Given the description of an element on the screen output the (x, y) to click on. 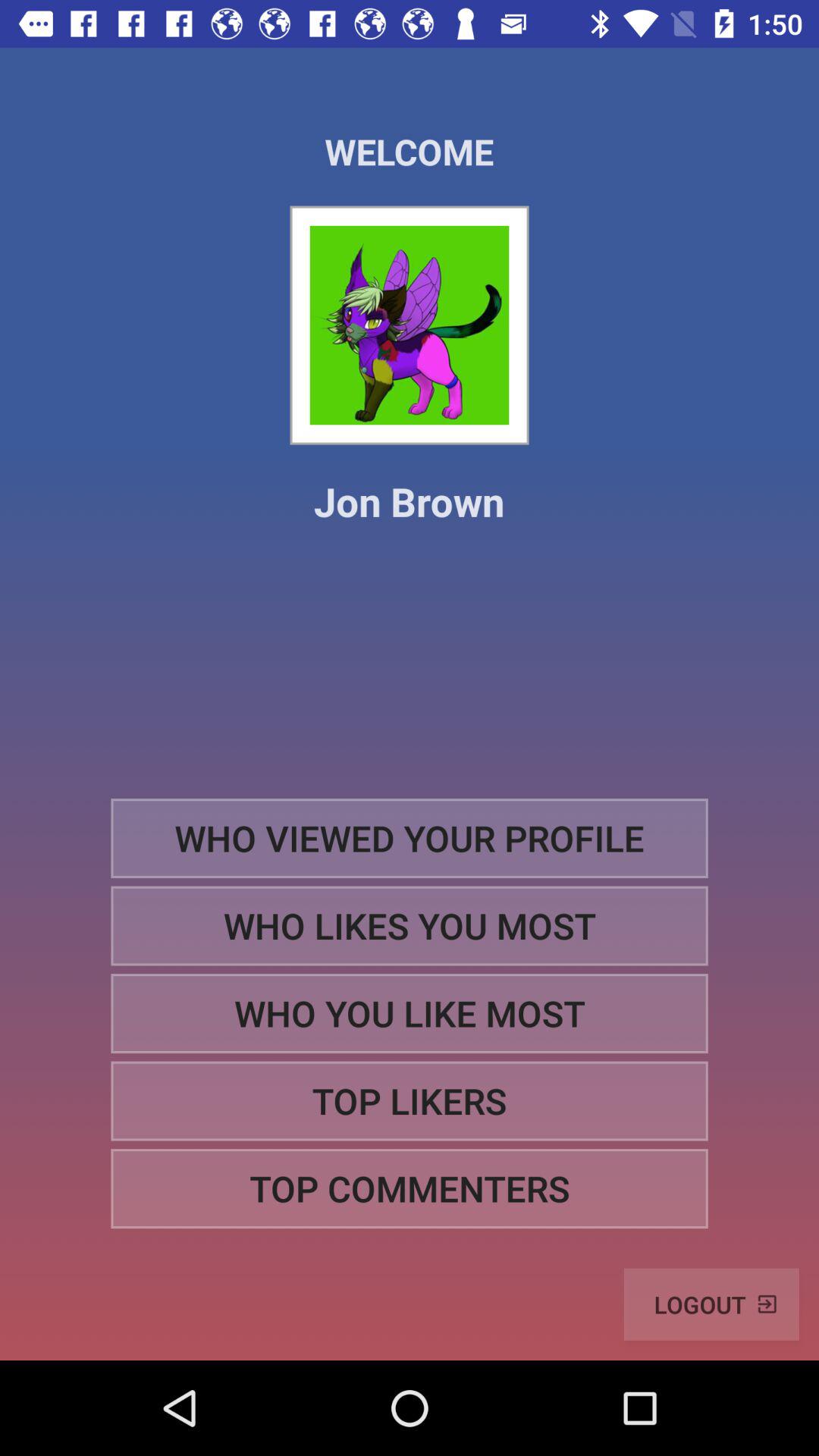
scroll to the logout icon (711, 1304)
